Given the description of an element on the screen output the (x, y) to click on. 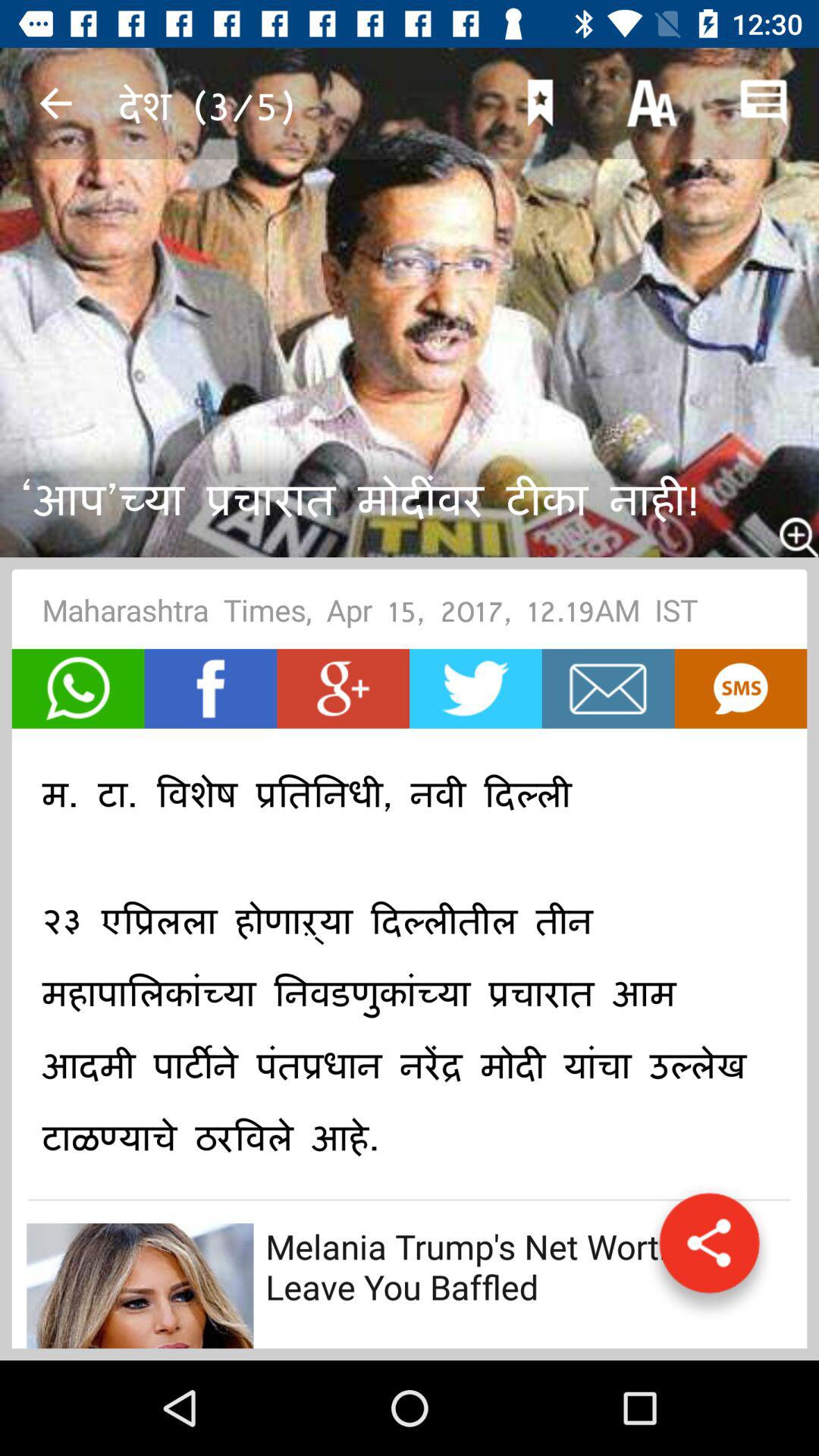
turn off the icon below maharashtra times apr item (608, 688)
